Given the description of an element on the screen output the (x, y) to click on. 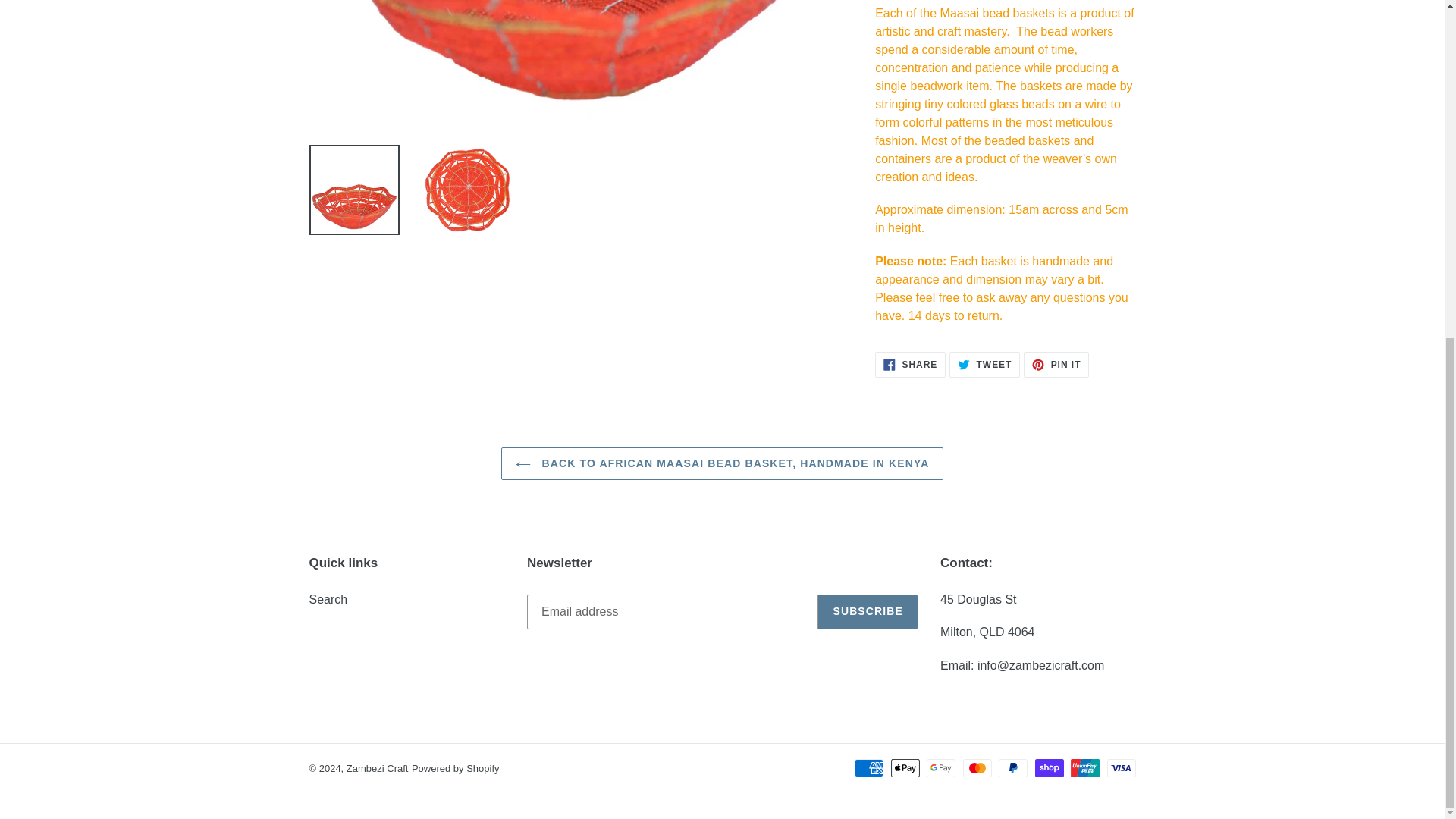
BACK TO AFRICAN MAASAI BEAD BASKET, HANDMADE IN KENYA (721, 463)
SUBSCRIBE (1056, 364)
Powered by Shopify (984, 364)
Zambezi Craft (867, 611)
Search (909, 364)
